Given the description of an element on the screen output the (x, y) to click on. 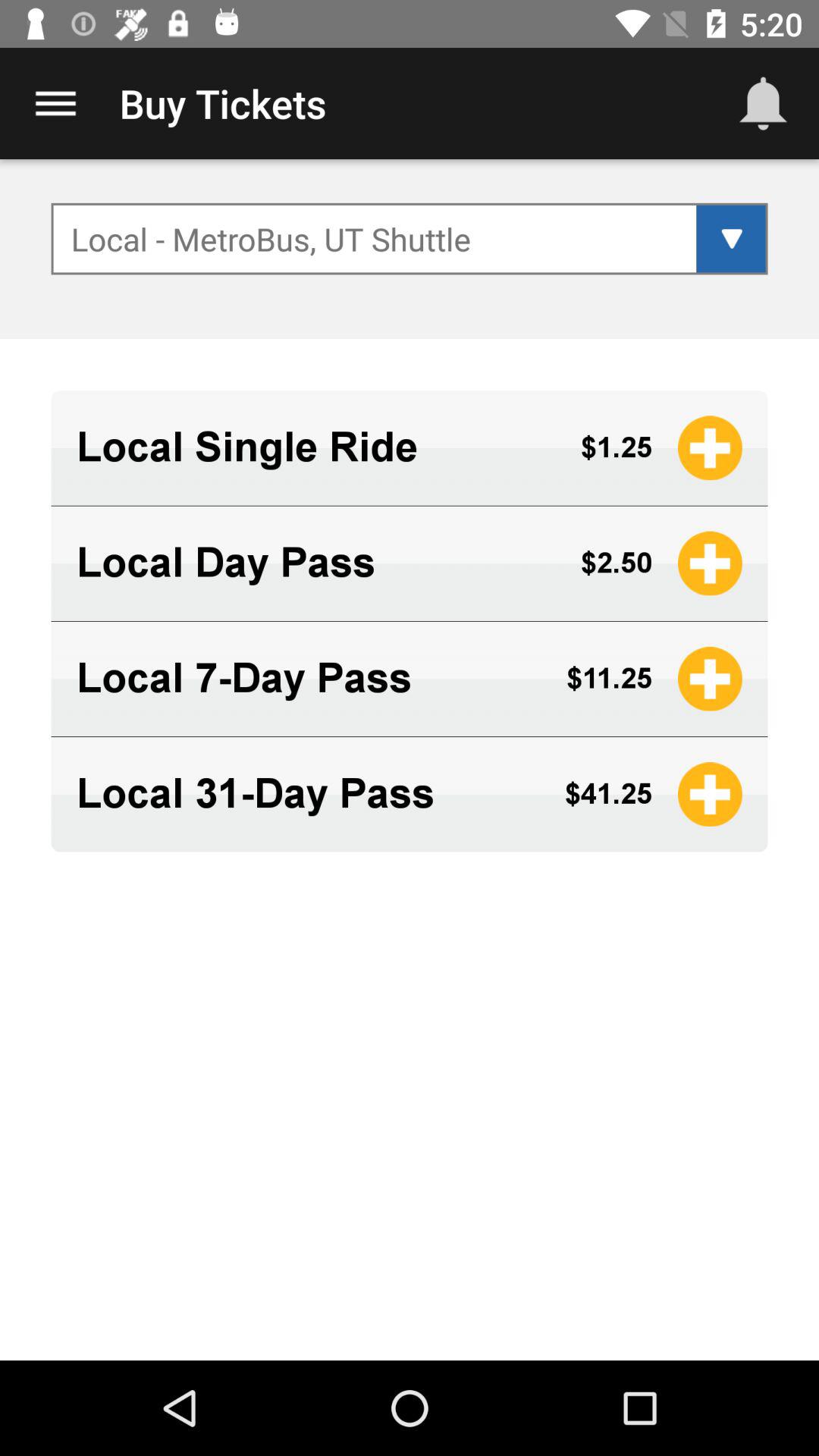
select local single ride (315, 447)
